Given the description of an element on the screen output the (x, y) to click on. 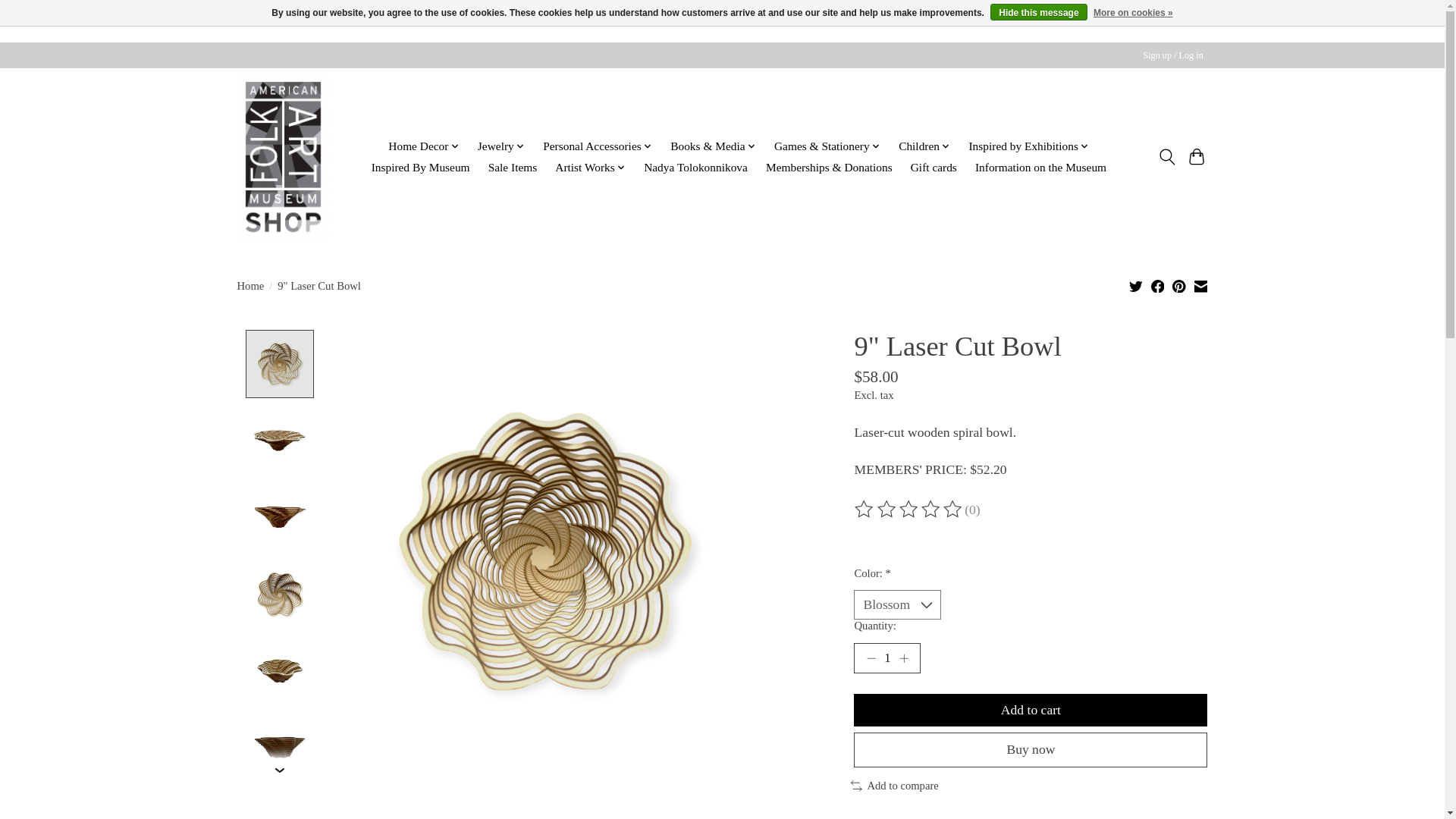
Home Decor (423, 147)
My account (1173, 55)
Jewelry (501, 147)
Hide this message (1038, 12)
1 (886, 657)
Personal Accessories (597, 147)
